Given the description of an element on the screen output the (x, y) to click on. 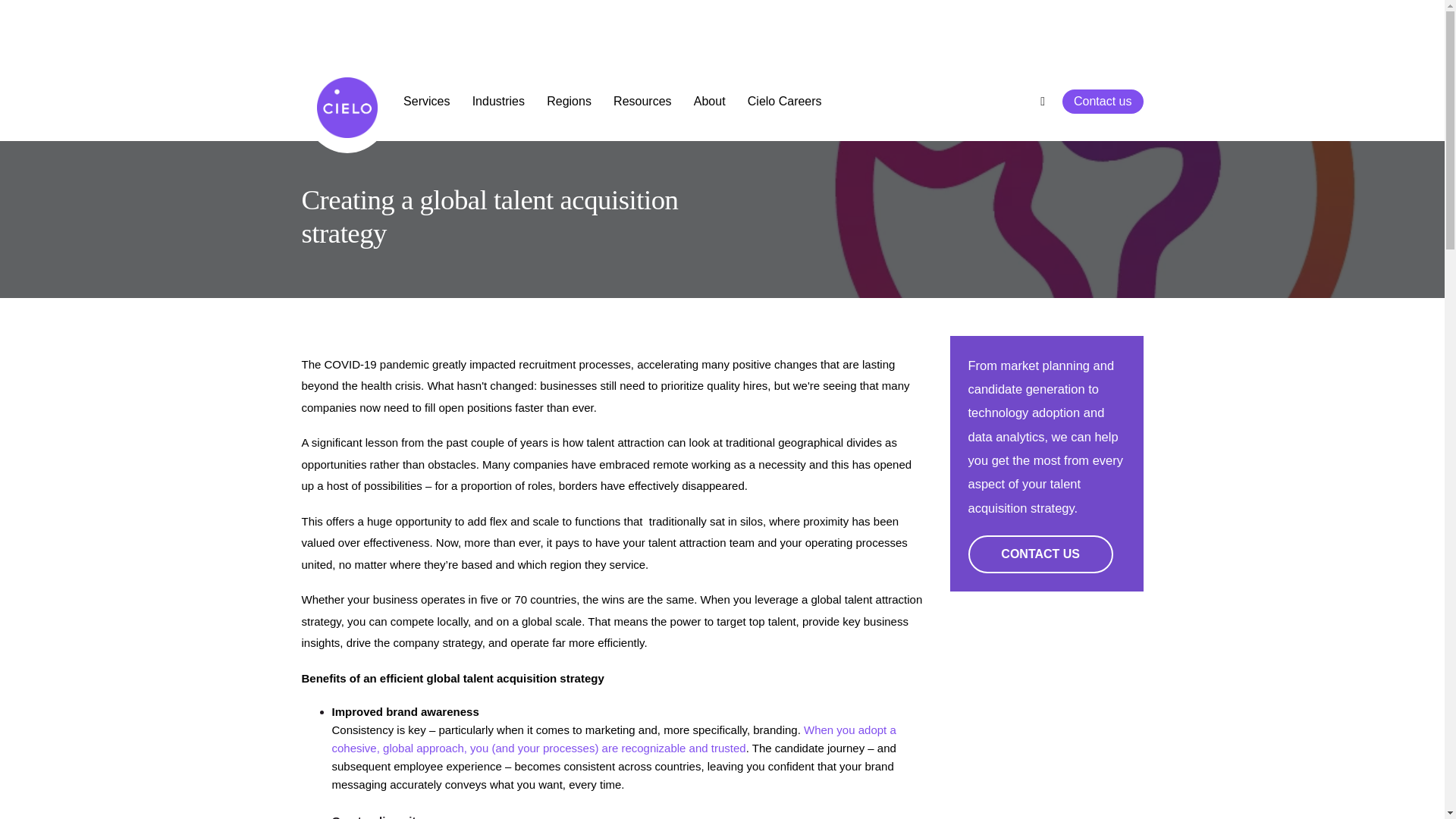
search (1046, 101)
Cielo Careers (783, 101)
Contact us (1102, 101)
Resources (643, 101)
CONTACT US (1040, 554)
Industries (498, 101)
